Given the description of an element on the screen output the (x, y) to click on. 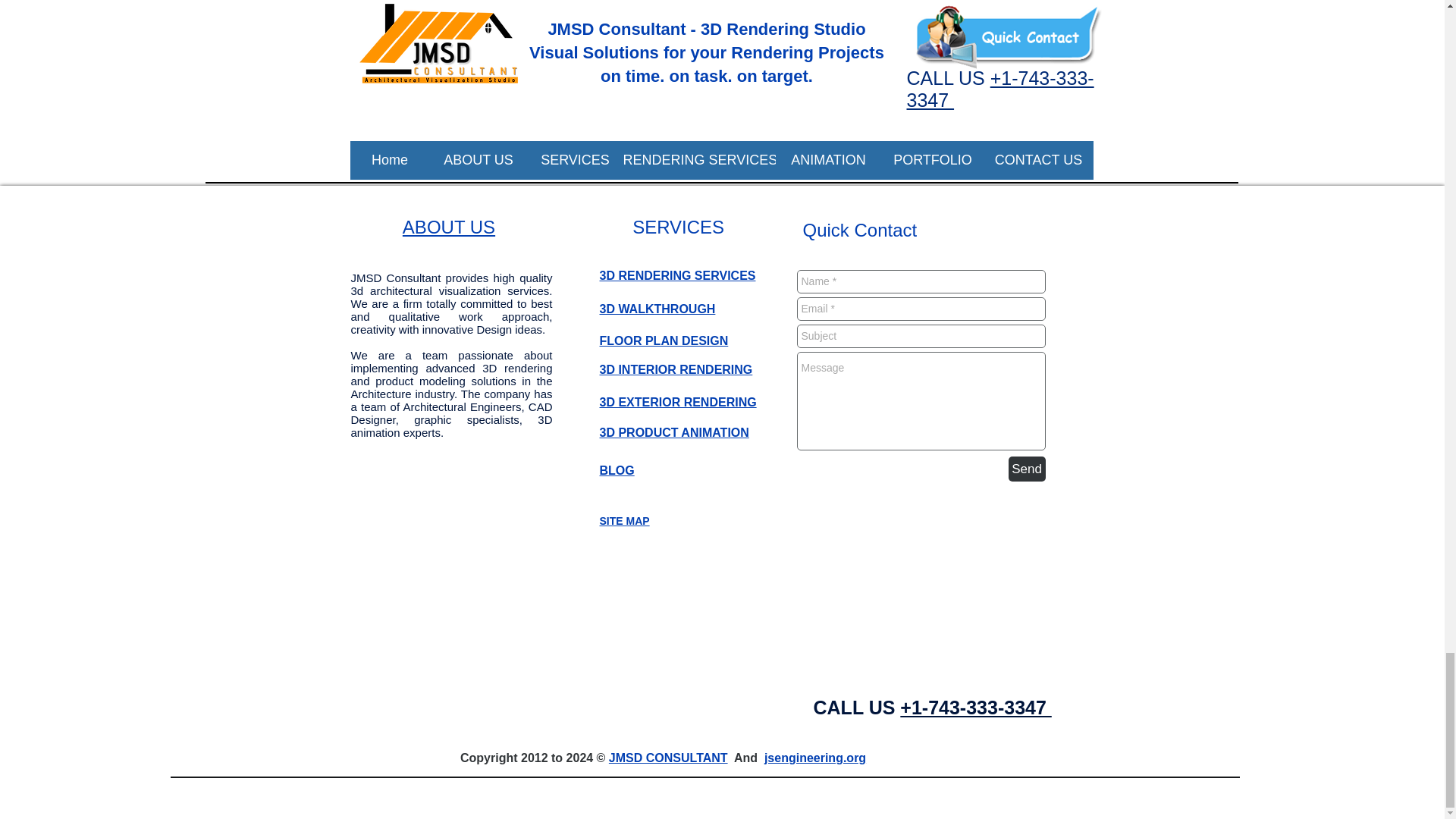
3D RENDERING SERVICES (676, 275)
3D WALKTHROUGH (656, 308)
3D Rendering Services San Diego California (499, 131)
3D Rendering Services Virginia (461, 164)
3D Rendering Services Las Vegas Nevada (492, 97)
3D Rendering Services Los Angeles California (505, 148)
ABOUT US (449, 227)
FLOOR PLAN DESIGN (663, 340)
3D Rendering Services Philadelphia Pennsylvania (516, 114)
3D Rendering Services Miami Florida (479, 80)
